Given the description of an element on the screen output the (x, y) to click on. 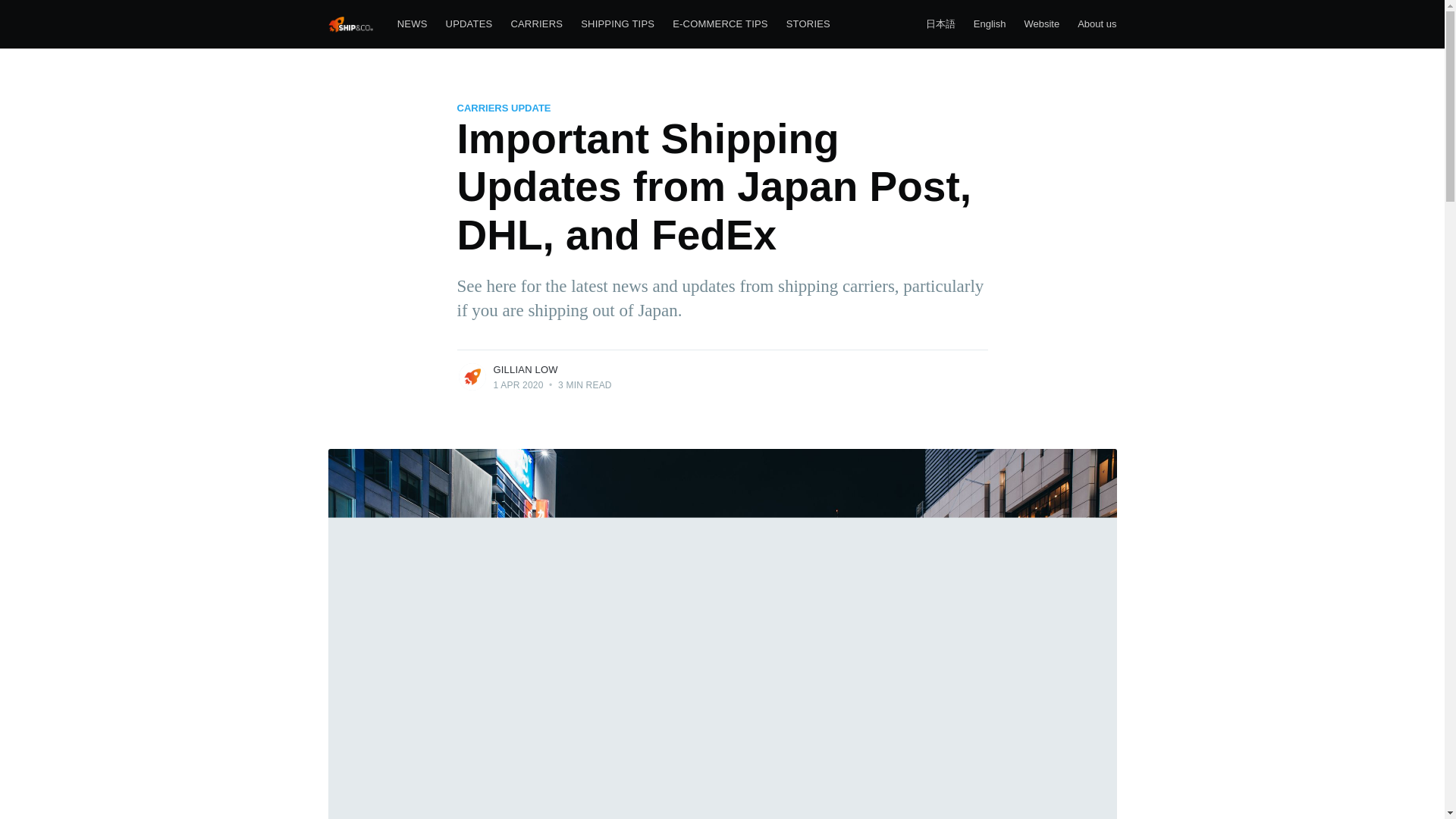
CARRIERS (536, 24)
Website (1041, 24)
About us (1096, 24)
UPDATES (469, 24)
English (988, 24)
STORIES (808, 24)
E-COMMERCE TIPS (720, 24)
GILLIAN LOW (525, 369)
SHIPPING TIPS (617, 24)
CARRIERS UPDATE (503, 108)
NEWS (412, 24)
